Given the description of an element on the screen output the (x, y) to click on. 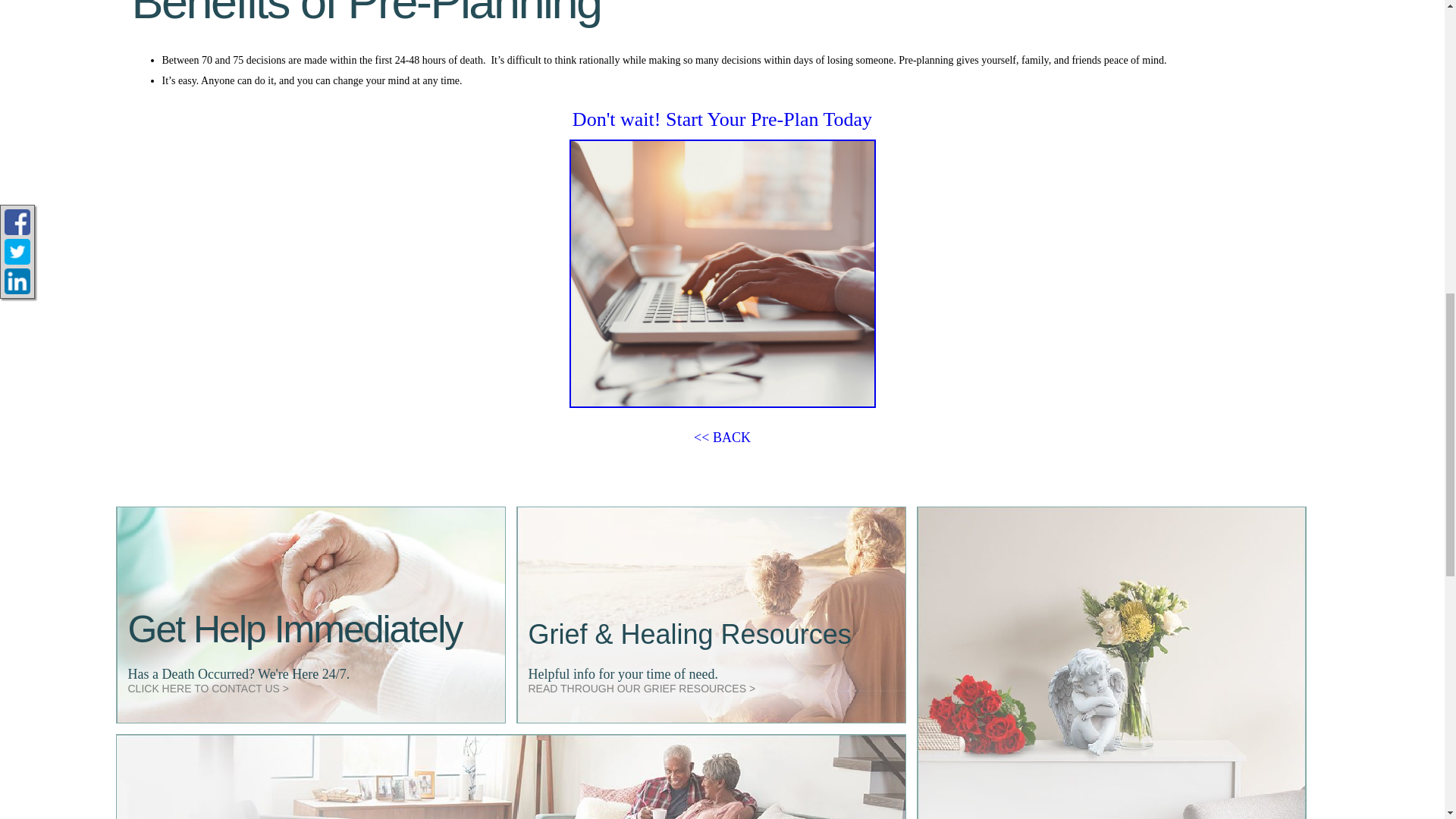
Don't wait! Start Your Pre-Plan Today (722, 118)
Grief Resources (641, 686)
Contact Us (208, 686)
